Given the description of an element on the screen output the (x, y) to click on. 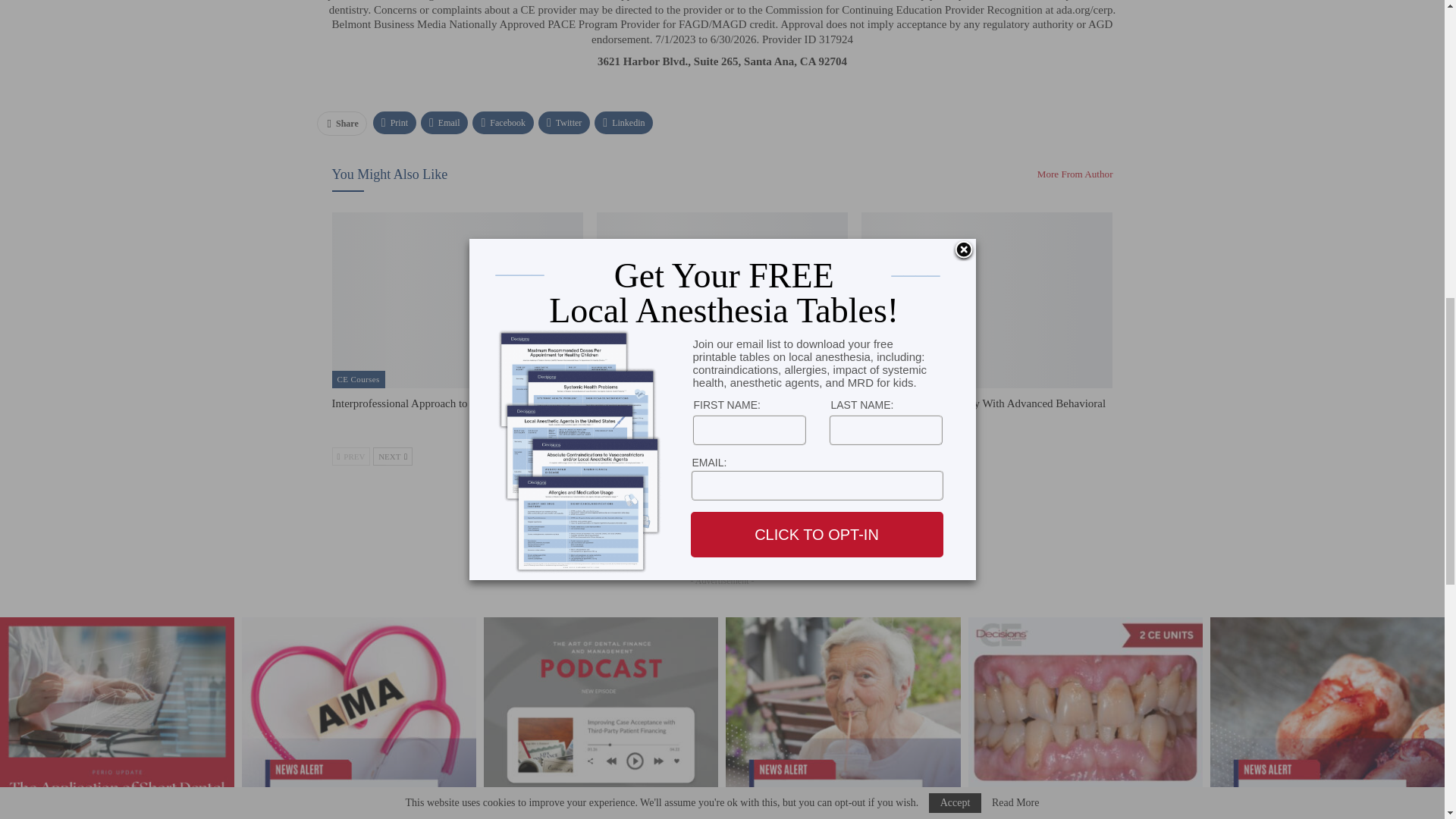
Interprofessional Approach to Xerostomia Treatment (457, 300)
Interprofessional Approach to Xerostomia Treatment (451, 403)
